Given the description of an element on the screen output the (x, y) to click on. 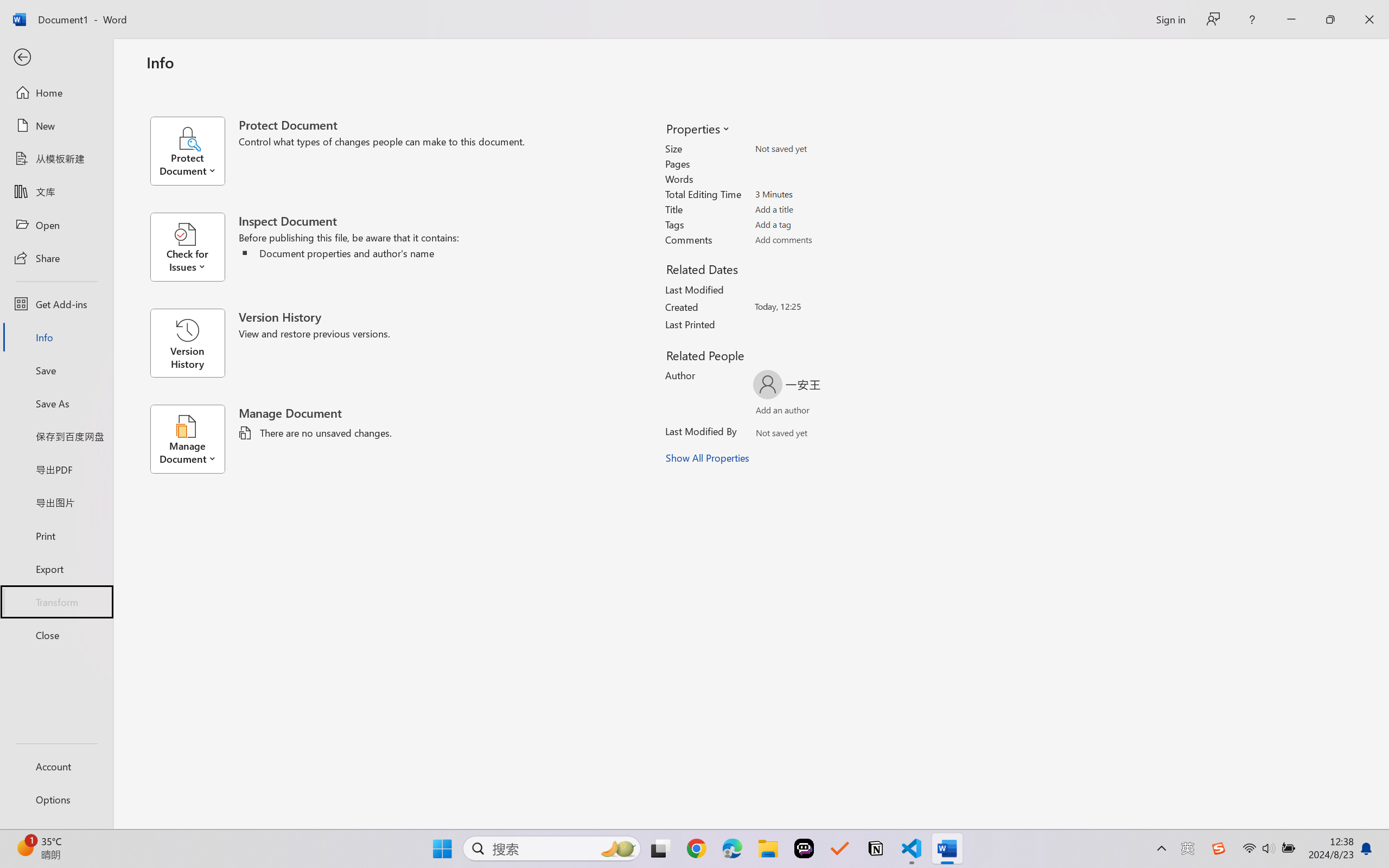
Browse Address Book (852, 435)
Print (56, 535)
Get Add-ins (56, 303)
Version History (187, 343)
New (56, 125)
Pages (818, 163)
Not saved yet (772, 434)
Verify Names (802, 434)
Account (56, 765)
